Given the description of an element on the screen output the (x, y) to click on. 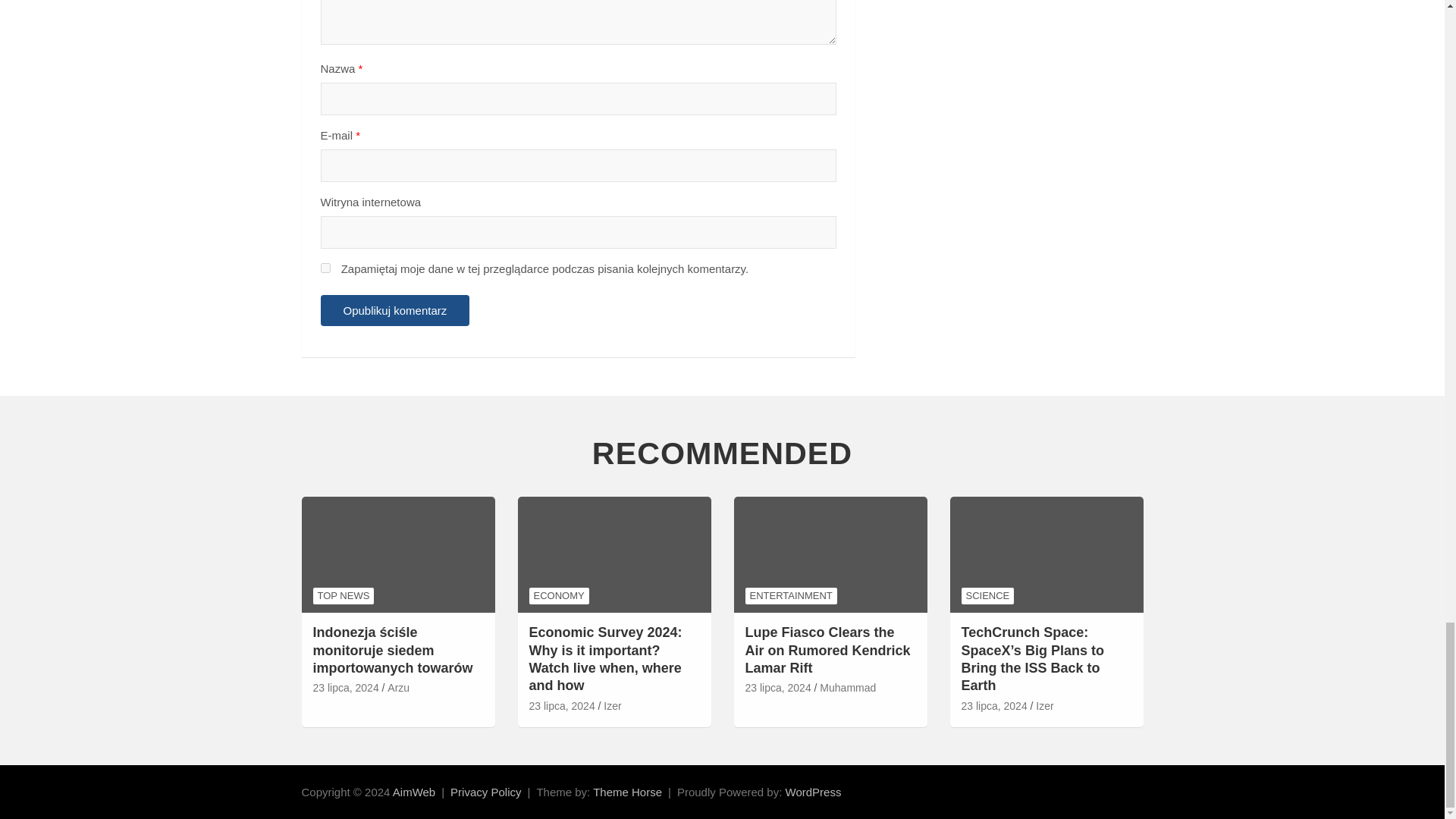
Theme Horse (627, 791)
AimWeb (414, 791)
Opublikuj komentarz (394, 309)
Opublikuj komentarz (394, 309)
WordPress (813, 791)
Lupe Fiasco Clears the Air on Rumored Kendrick Lamar Rift (777, 688)
yes (325, 267)
